Given the description of an element on the screen output the (x, y) to click on. 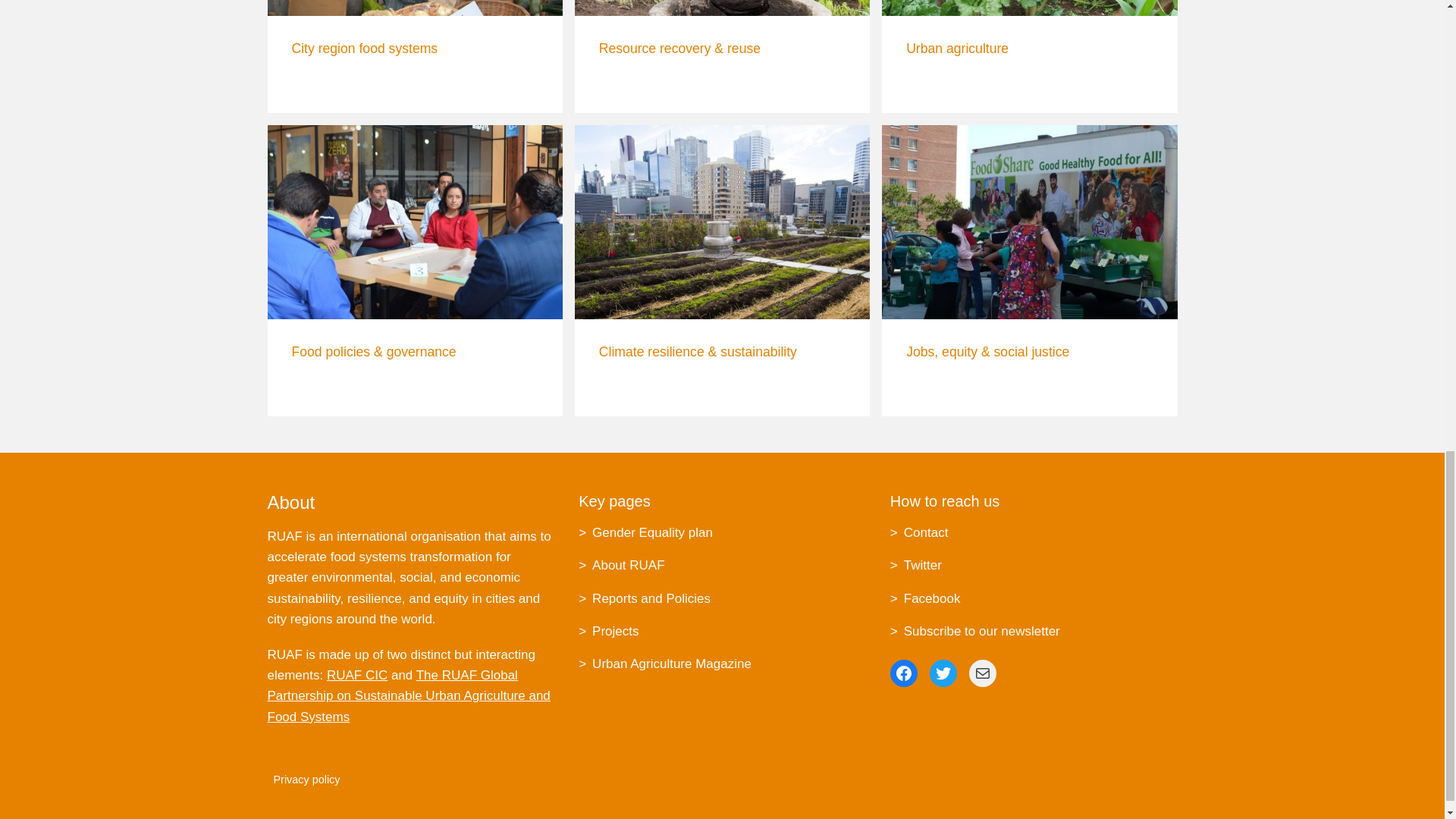
About RUAF (620, 564)
City region food systems (414, 56)
Gender Equality plan (645, 532)
Reports and Policies (644, 598)
Urban agriculture (1029, 56)
RUAF CIC (356, 675)
